Given the description of an element on the screen output the (x, y) to click on. 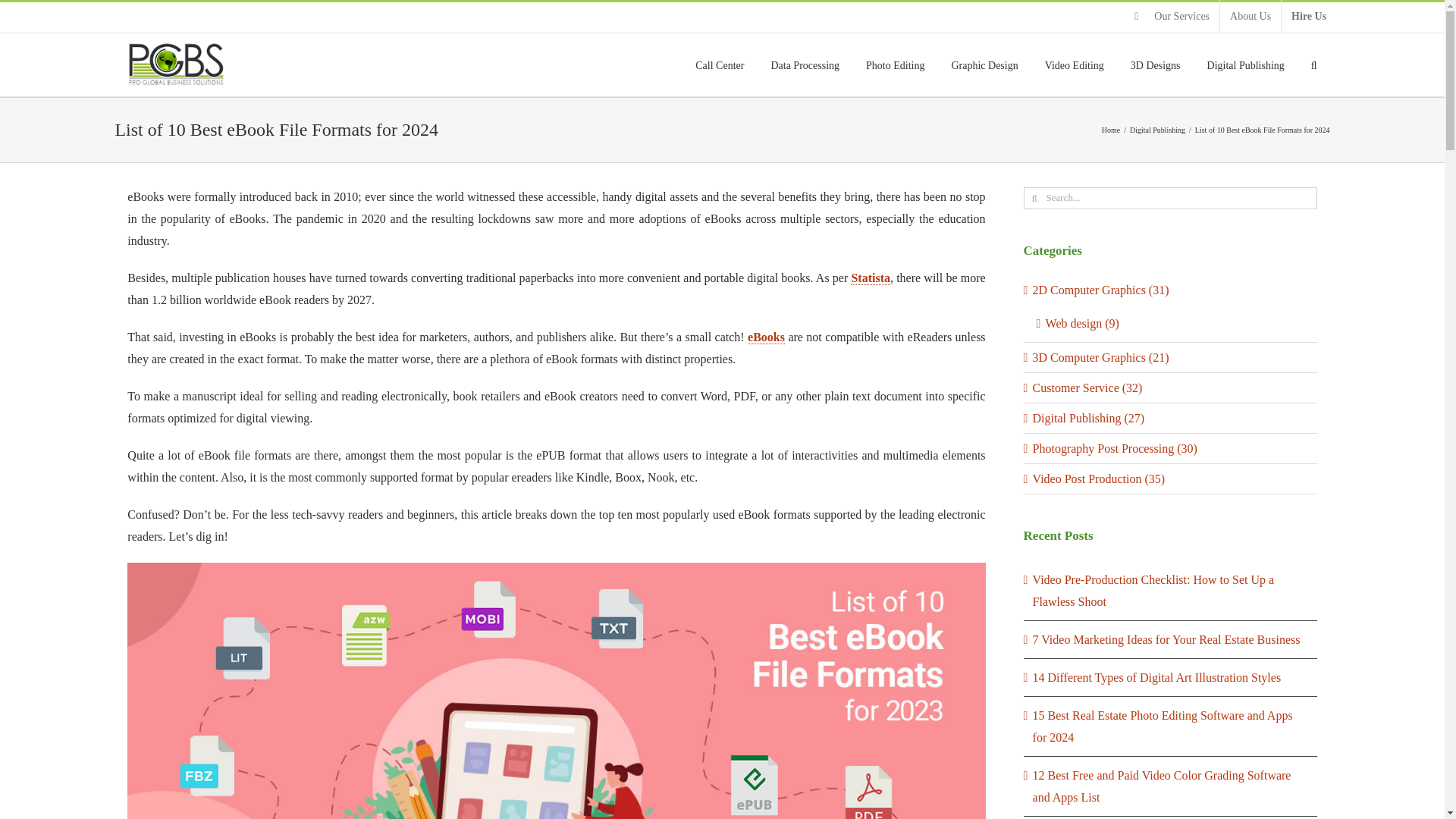
Our Services (1172, 16)
About Us (1250, 16)
Data Processing (805, 64)
Photo Editing (895, 64)
Hire Us (1308, 16)
